Given the description of an element on the screen output the (x, y) to click on. 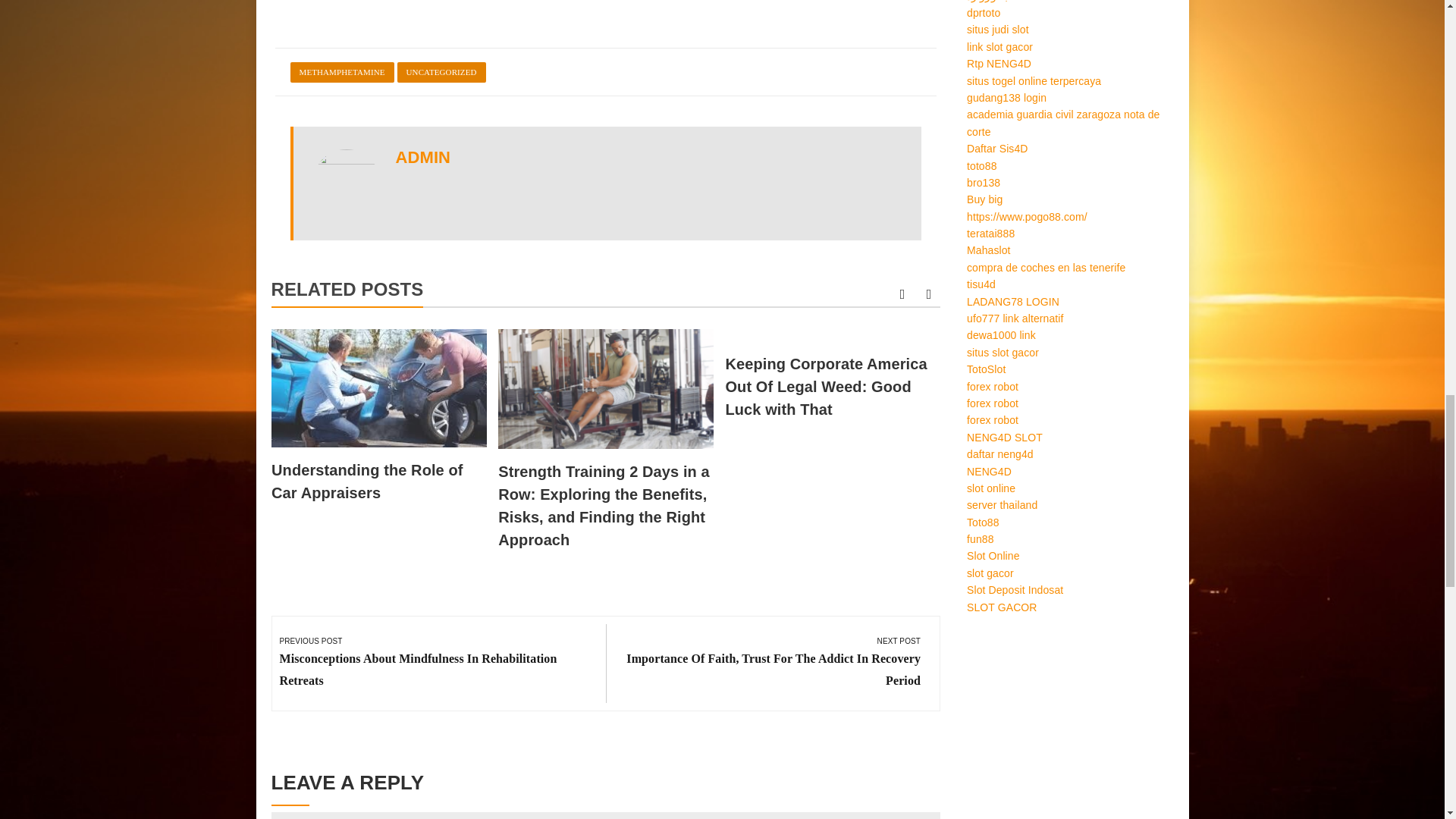
Understanding the Role of Car Appraisers (366, 481)
UNCATEGORIZED (441, 72)
METHAMPHETAMINE (341, 72)
ADMIN (423, 157)
Advertisement (605, 12)
